Given the description of an element on the screen output the (x, y) to click on. 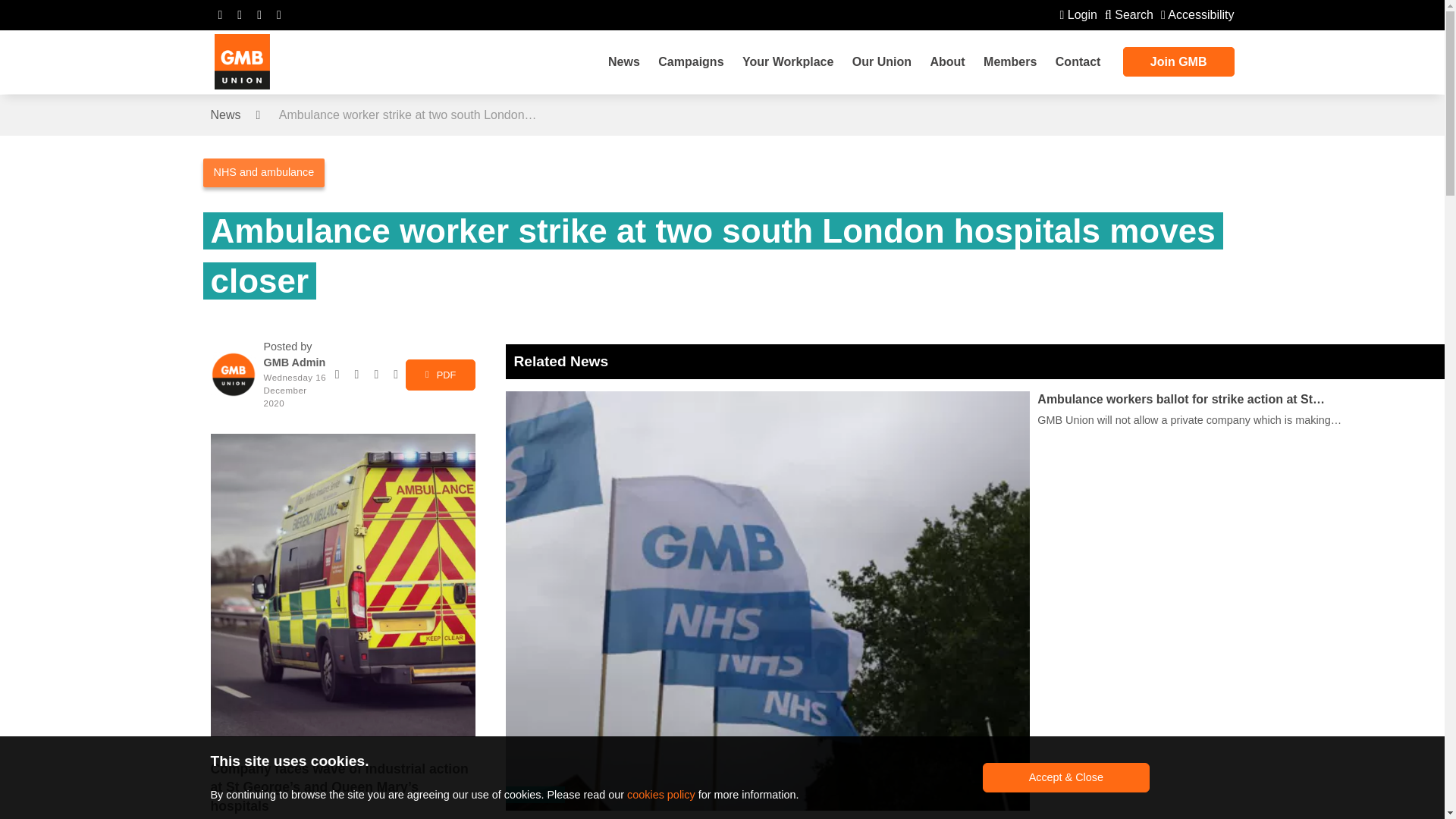
Accessibility (1197, 14)
Your Workplace (788, 62)
our cookies policy (661, 794)
Login (1077, 14)
Campaigns (690, 62)
Search (1129, 14)
